Given the description of an element on the screen output the (x, y) to click on. 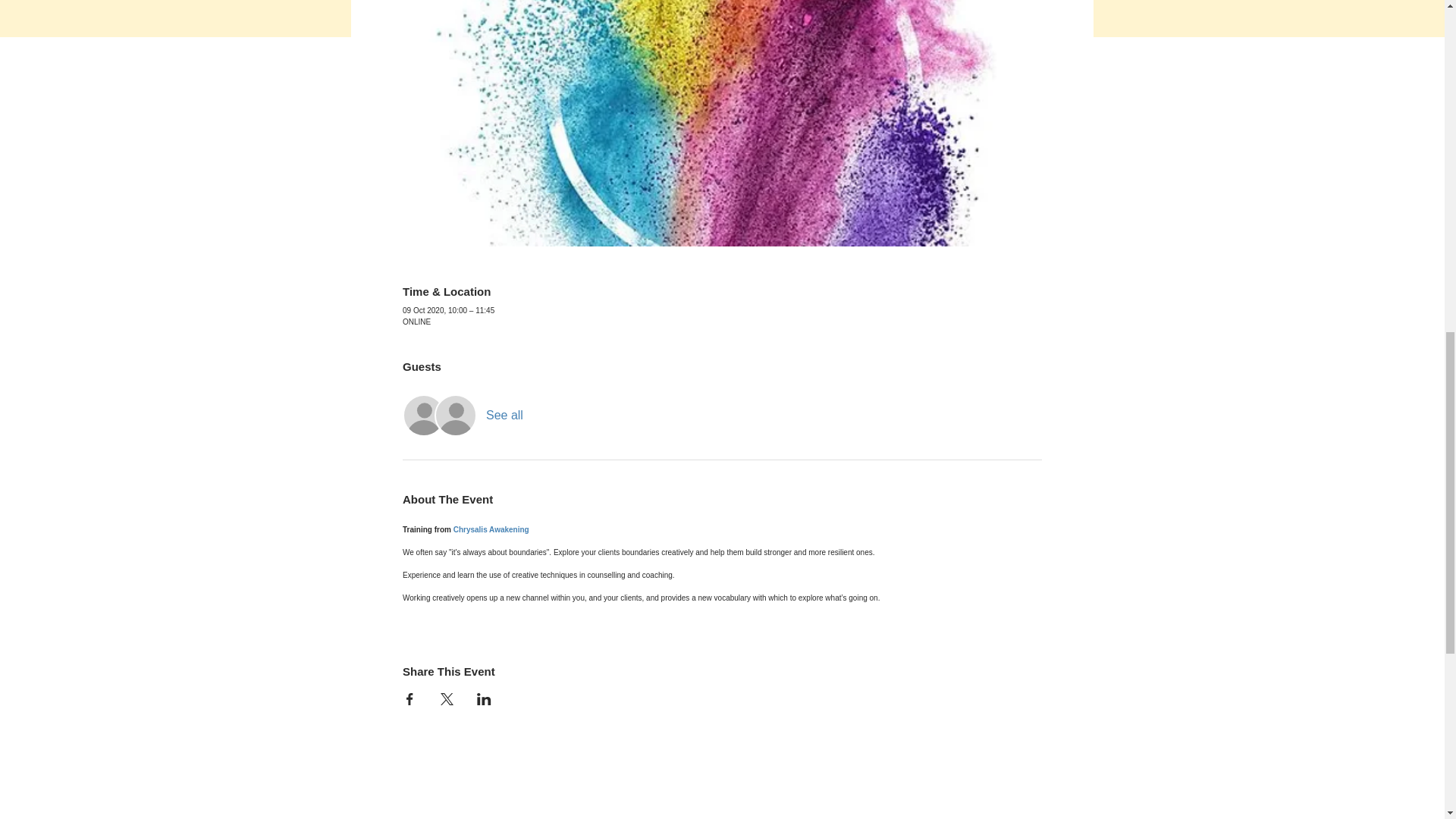
See all (504, 415)
Chrysalis Awakening (490, 529)
